Given the description of an element on the screen output the (x, y) to click on. 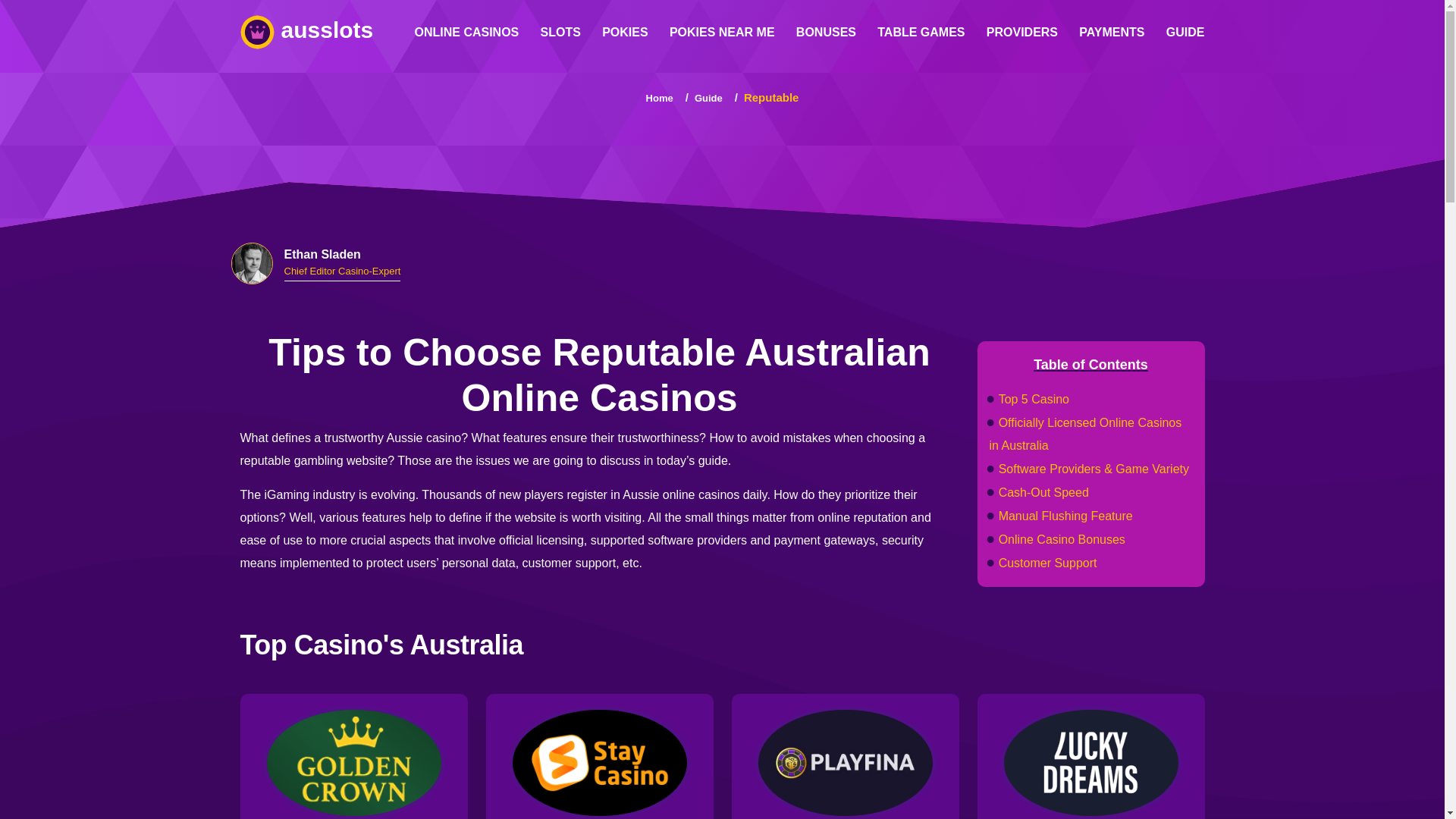
SLOTS (560, 32)
Home (659, 98)
Guide (708, 98)
POKIES NEAR ME (721, 32)
ONLINE CASINOS (465, 32)
ausslots (314, 32)
POKIES (624, 32)
